Given the description of an element on the screen output the (x, y) to click on. 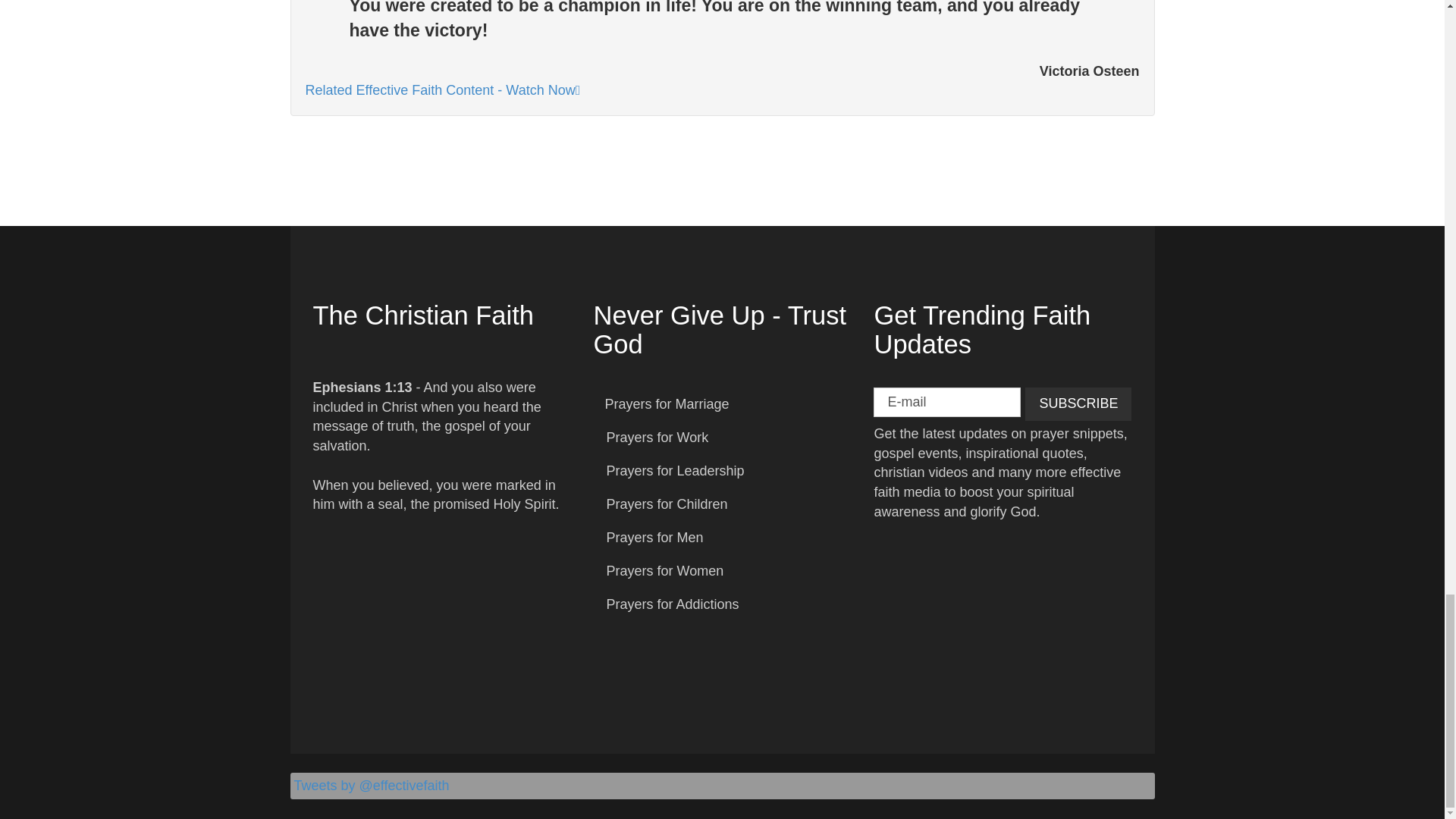
E-mail (946, 401)
Subscribe (1078, 403)
E-mail (946, 401)
